Given the description of an element on the screen output the (x, y) to click on. 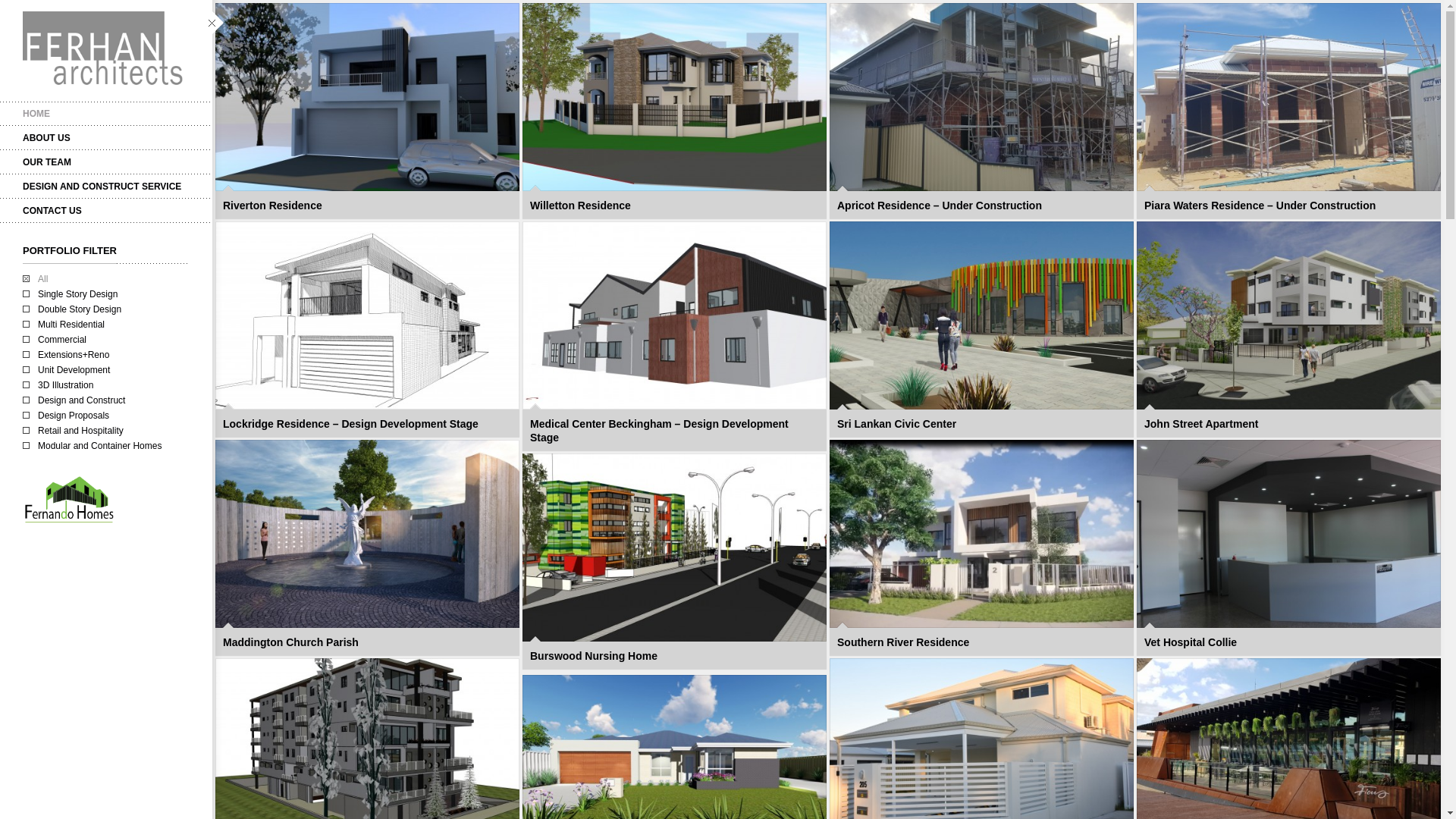
Retail and Hospitality Element type: text (72, 430)
Commercial Element type: text (54, 339)
Multi Residential Element type: text (63, 324)
Modular and Container Homes Element type: text (91, 445)
Design Proposals Element type: text (65, 415)
DESIGN AND CONSTRUCT SERVICE Element type: text (106, 186)
CONTACT US Element type: text (106, 210)
HOME Element type: text (106, 113)
Double Story Design Element type: text (71, 309)
OUR TEAM Element type: text (106, 162)
ABOUT US Element type: text (106, 137)
All Element type: text (34, 278)
Extensions+Reno Element type: text (65, 354)
Design and Construct Element type: text (73, 400)
Single Story Design Element type: text (69, 293)
Unit Development Element type: text (65, 369)
3D Illustration Element type: text (57, 384)
